Given the description of an element on the screen output the (x, y) to click on. 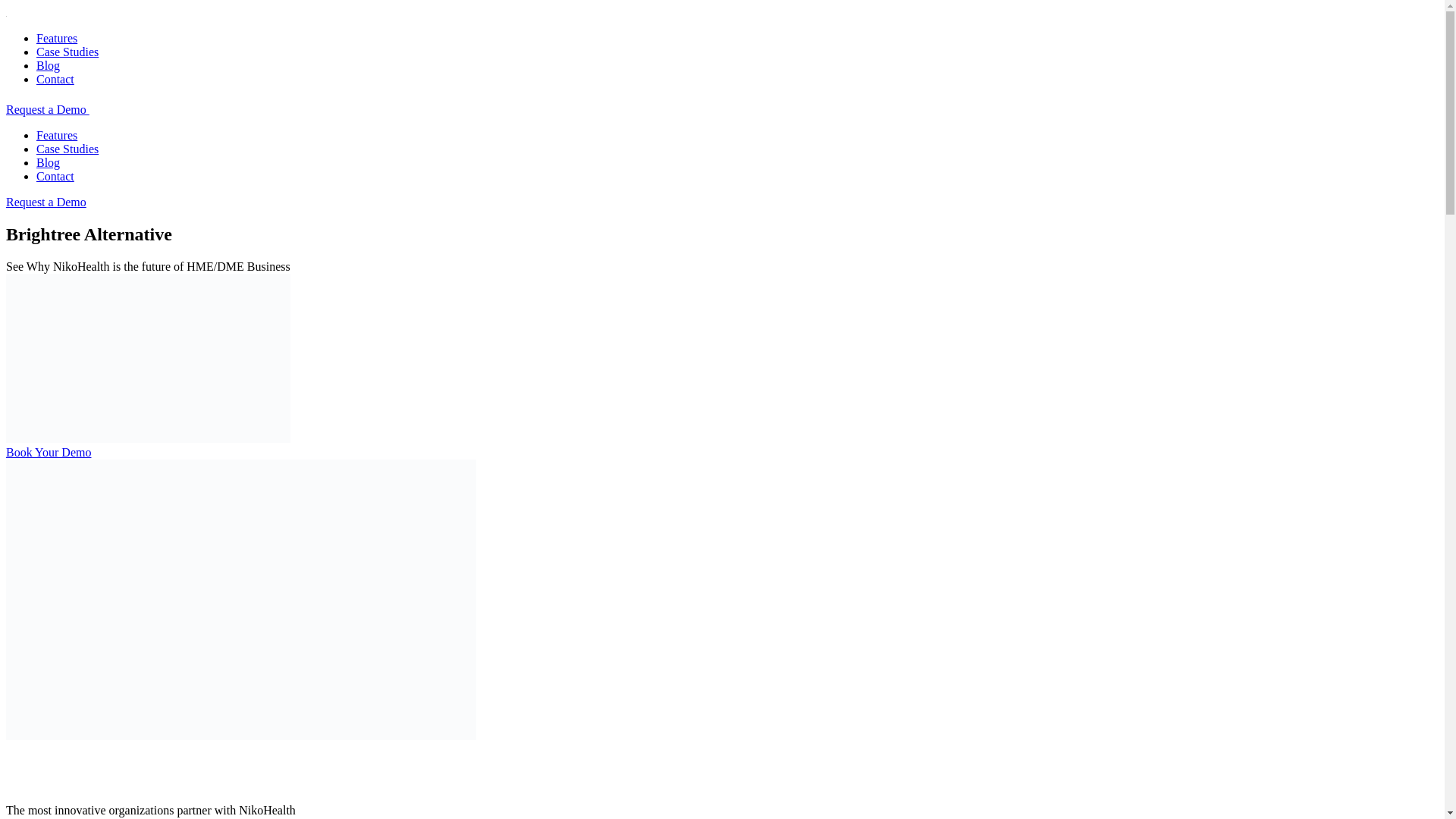
Case Studies (67, 148)
Book Your Demo (47, 451)
Contact (55, 175)
Features (56, 38)
Request a Demo (46, 109)
Blog (47, 162)
Blog (47, 65)
Contact (55, 78)
Request a Demo (45, 201)
Case Studies (67, 51)
Features (56, 134)
